Given the description of an element on the screen output the (x, y) to click on. 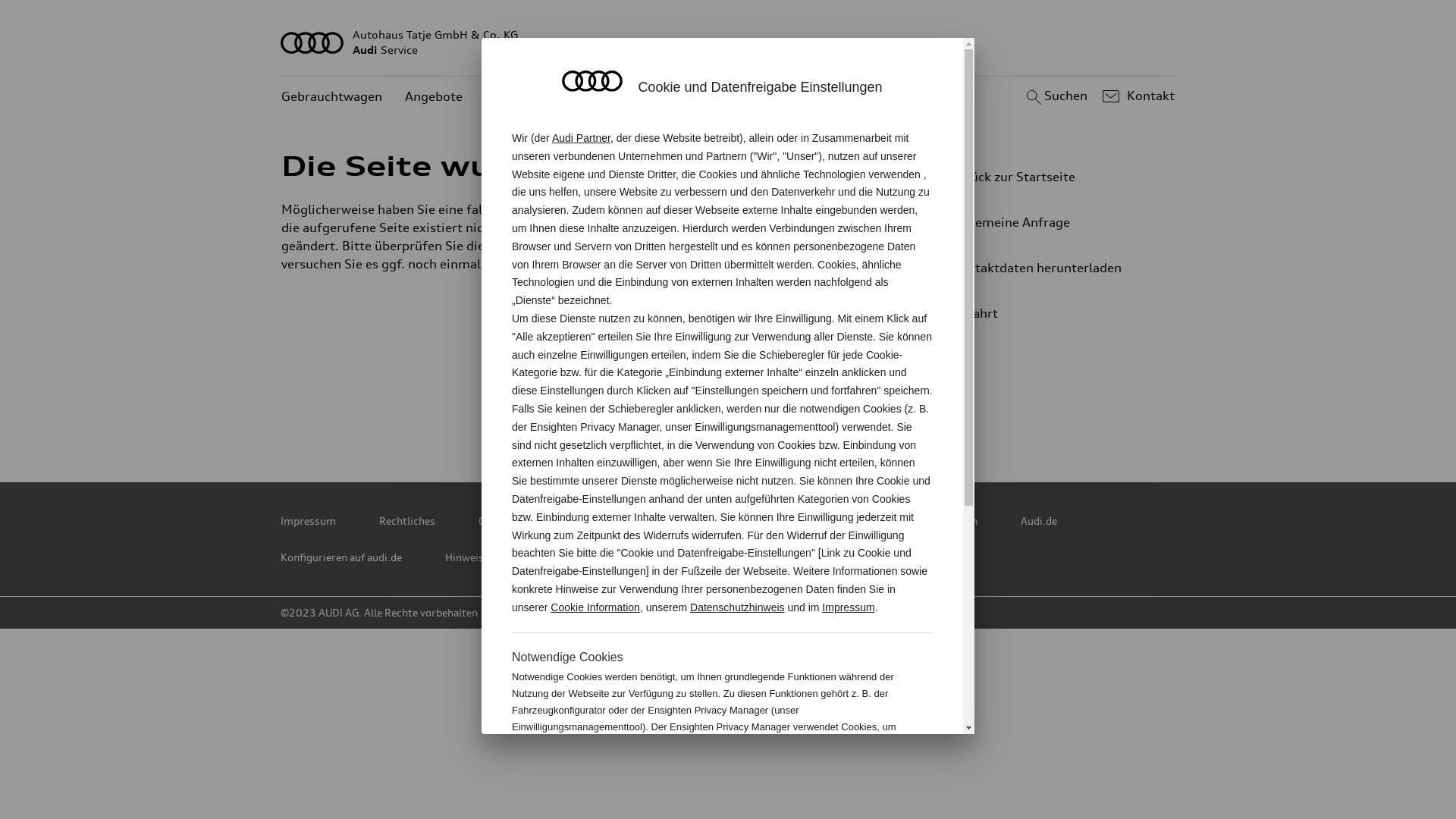
Pinterest Element type: hover (663, 410)
Impressum Element type: text (307, 520)
Konfigurieren auf audi.de Element type: text (340, 557)
Autohaus Tatje GmbH & Co. KG
AudiService Element type: text (727, 42)
Audi.de Element type: text (1038, 520)
Suchen Element type: text (1054, 96)
Twitter Element type: hover (596, 410)
Angebote Element type: text (433, 96)
YouTube Element type: hover (796, 410)
Kundenservice Element type: text (528, 96)
Cookie Policy Element type: text (711, 520)
Copyright & Haftungsausschluss Element type: text (557, 520)
Gebrauchtwagen Element type: text (331, 96)
Hinweisgebersystem Element type: text (495, 557)
Audi Partner Element type: text (581, 137)
Instagram Element type: hover (863, 410)
Kontakt Element type: text (1135, 96)
Facebook Element type: hover (730, 410)
Anfahrt Element type: text (1049, 313)
Cookie Information Element type: text (853, 776)
Impressum Element type: text (848, 607)
Rechtliches Element type: text (407, 520)
Allgemeine Anfrage Element type: text (1043, 222)
Kontaktdaten herunterladen Element type: text (1043, 267)
Cookie Information Element type: text (595, 607)
Cookie und Datenfreigabe Einstellungen Element type: text (881, 520)
Datenschutzhinweis Element type: text (737, 607)
